Given the description of an element on the screen output the (x, y) to click on. 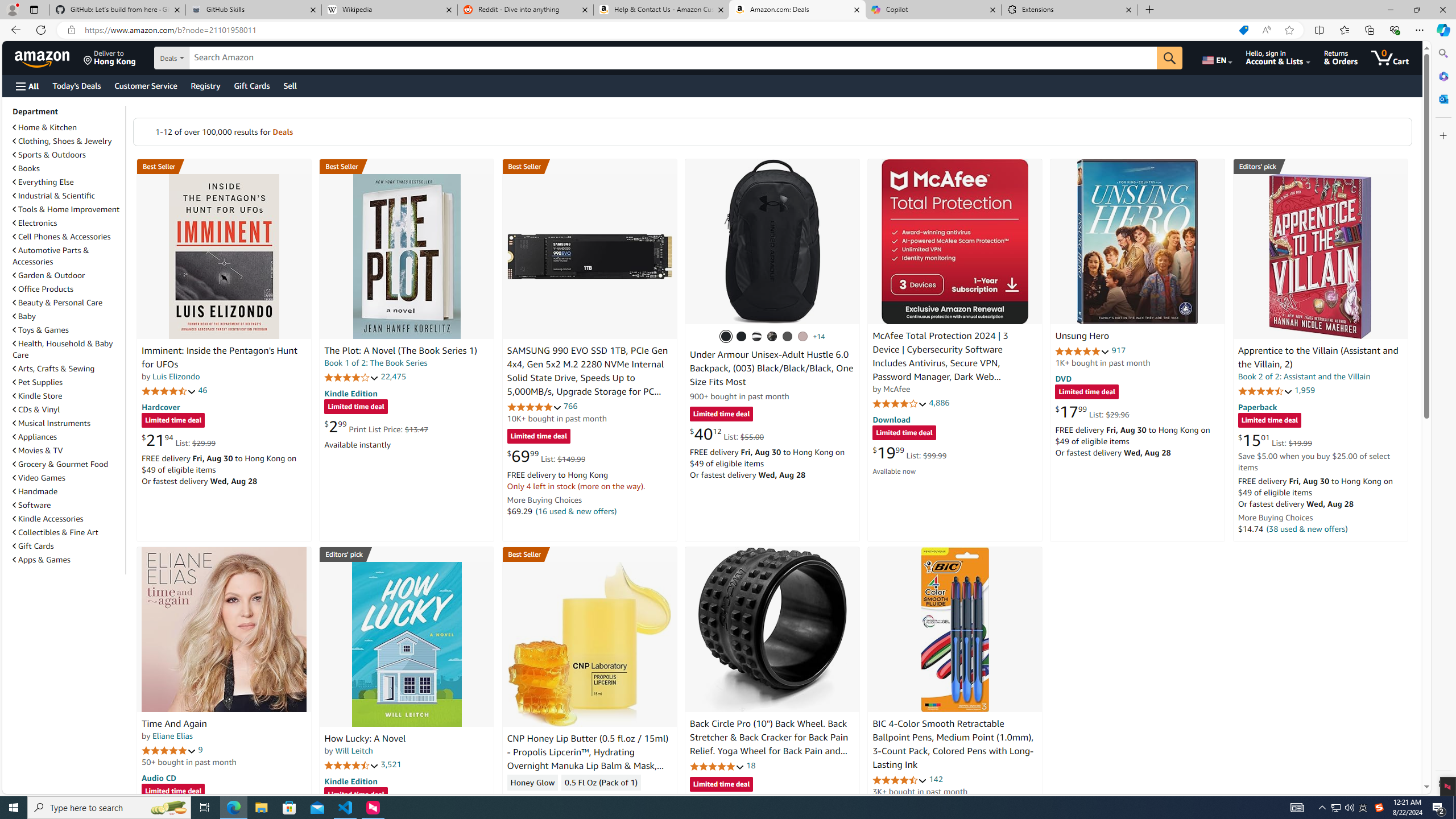
Pet Supplies (37, 381)
Hello, sign in Account & Lists (1278, 57)
Grocery & Gourmet Food (61, 463)
Books (26, 167)
(003) Black / Black / Black (725, 336)
Handmade (67, 491)
Best Seller in Internal Solid State Drives (589, 165)
$69.99 List: $149.99 (545, 455)
Gift Cards (67, 546)
CDs & Vinyl (67, 409)
Everything Else (43, 181)
Deliver to Hong Kong (109, 57)
